Given the description of an element on the screen output the (x, y) to click on. 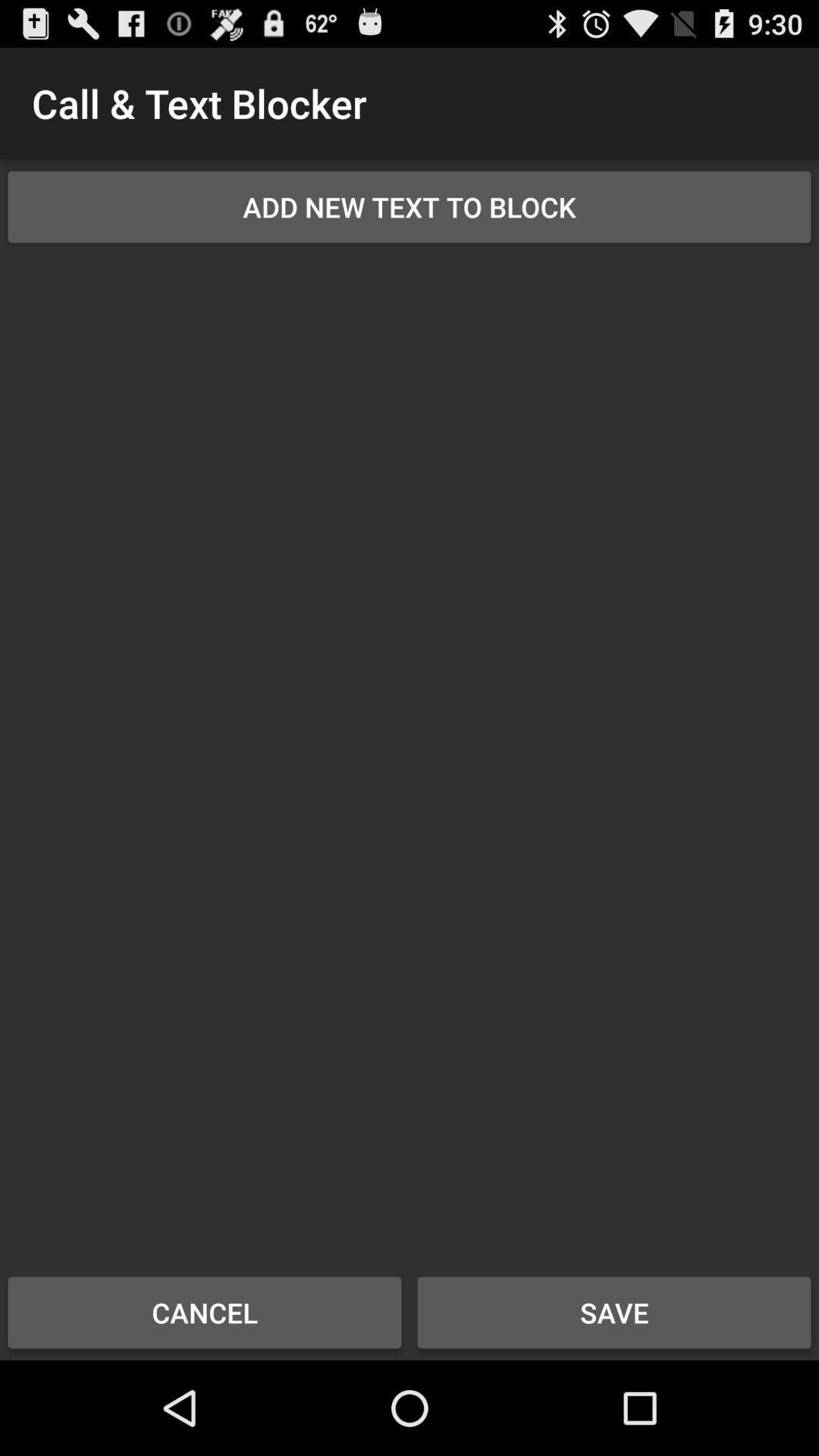
tap save button (614, 1312)
